Given the description of an element on the screen output the (x, y) to click on. 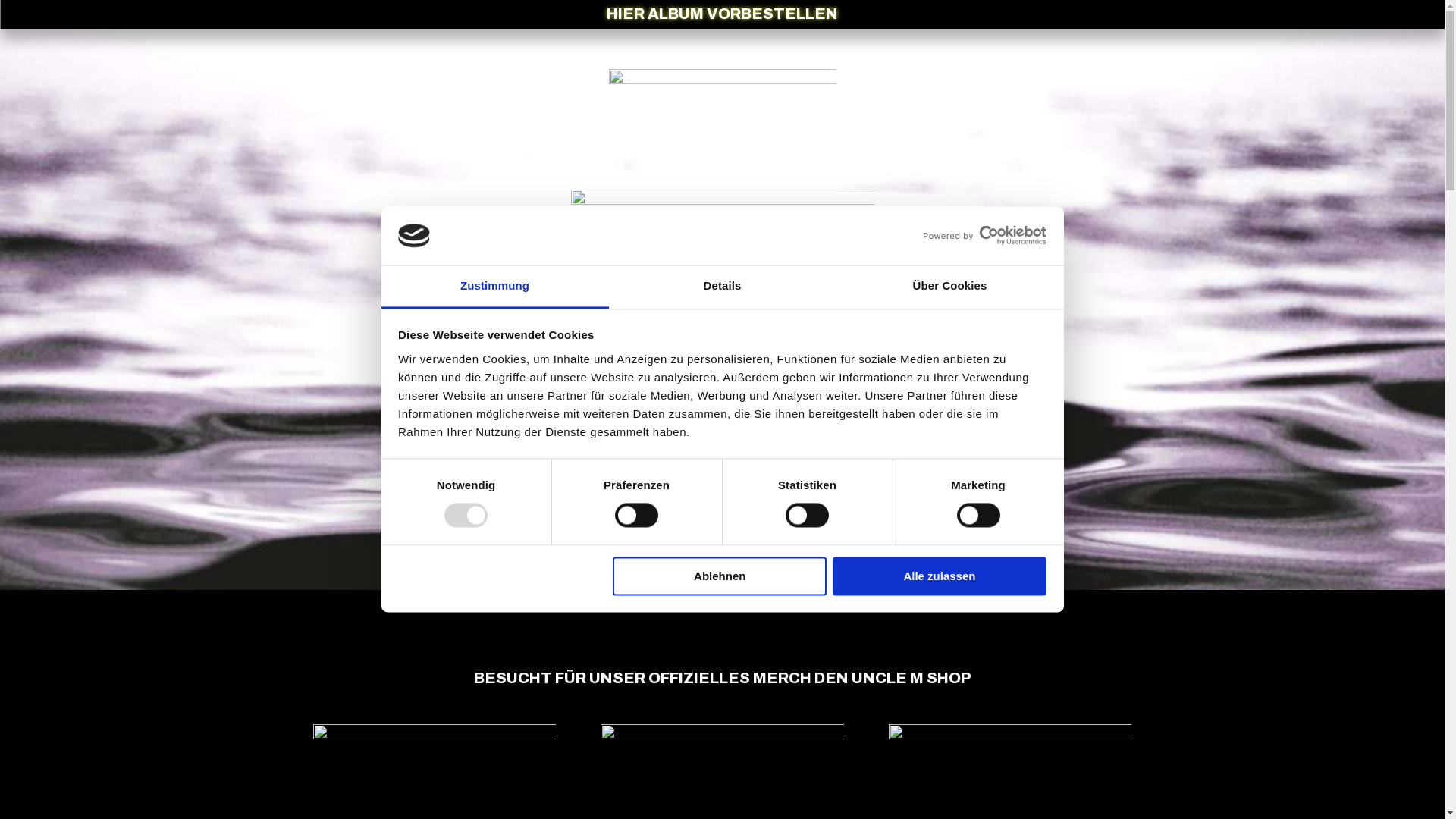
Aufkleber Element type: hover (721, 129)
Ablehnen Element type: text (719, 575)
Alle zulassen Element type: text (939, 575)
Hand+Planet Element type: hover (721, 356)
Zustimmung Element type: text (494, 286)
Details Element type: text (721, 286)
